Given the description of an element on the screen output the (x, y) to click on. 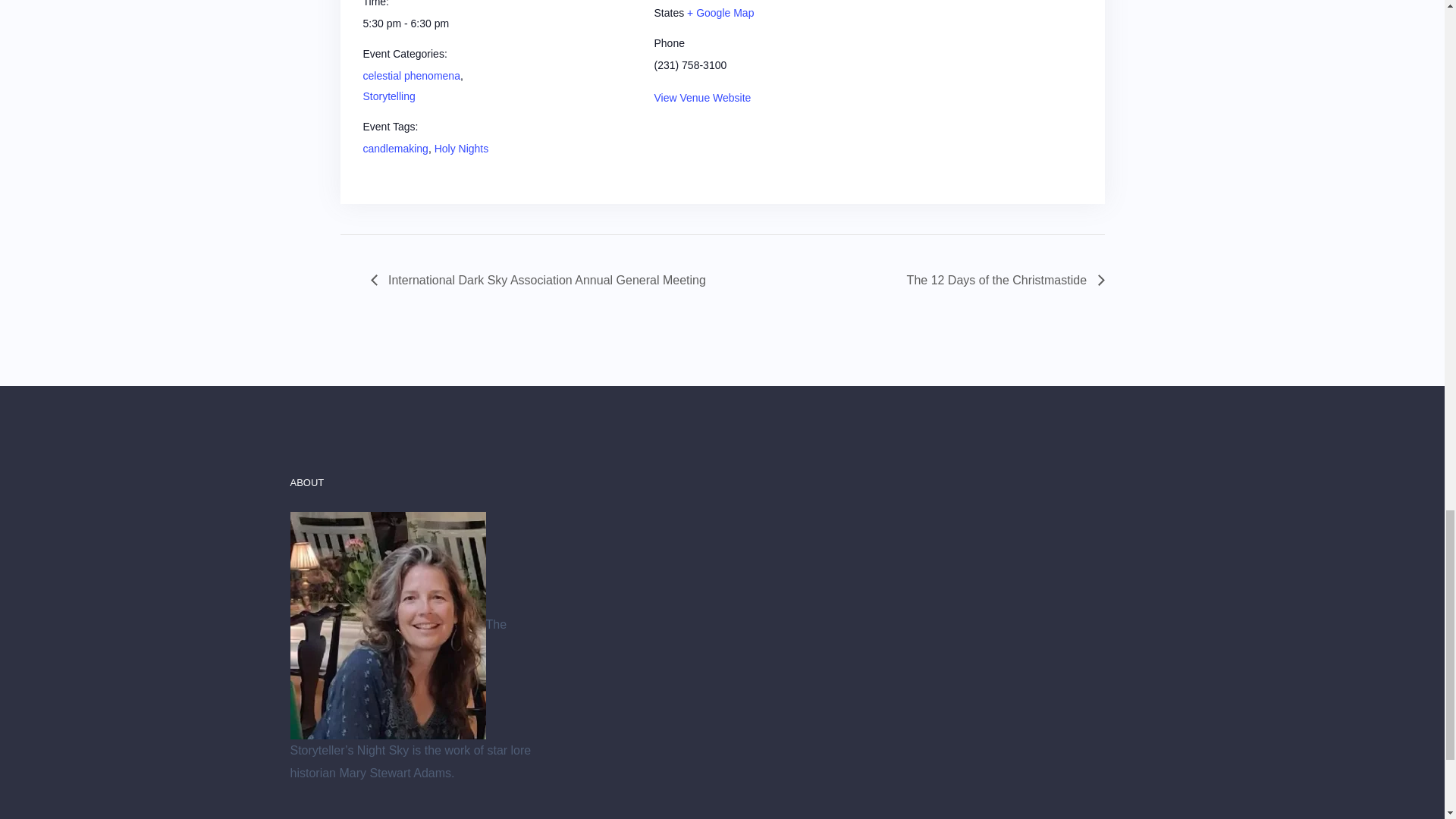
celestial phenomena (411, 75)
International Dark Sky Association Annual General Meeting (541, 279)
2018-12-05 (425, 23)
View Venue Website (702, 97)
Click to view a Google Map (720, 12)
Holy Nights (461, 148)
Storytelling (388, 96)
candlemaking (395, 148)
The 12 Days of the Christmastide (1001, 279)
